Given the description of an element on the screen output the (x, y) to click on. 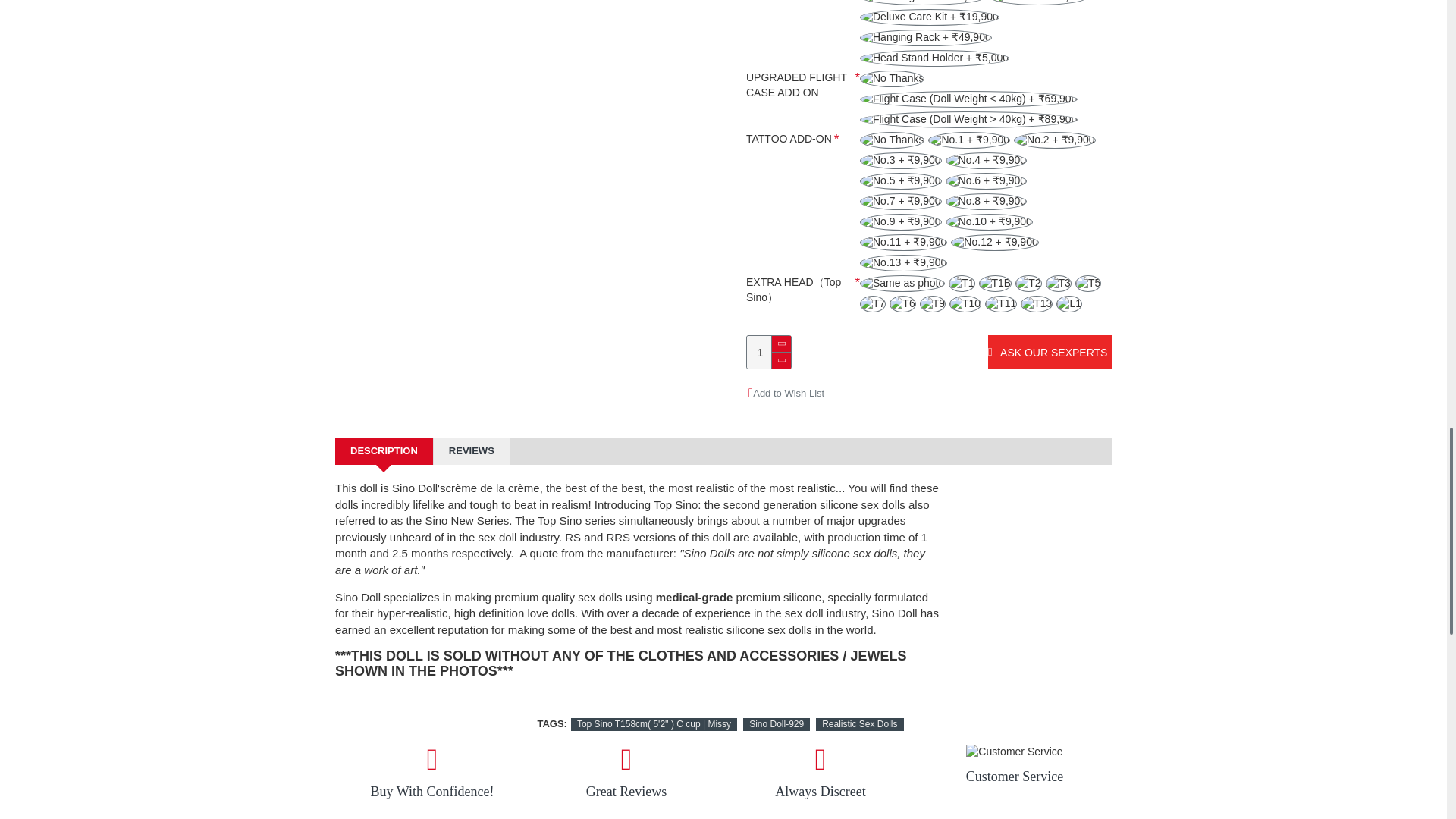
1 (768, 351)
